Given the description of an element on the screen output the (x, y) to click on. 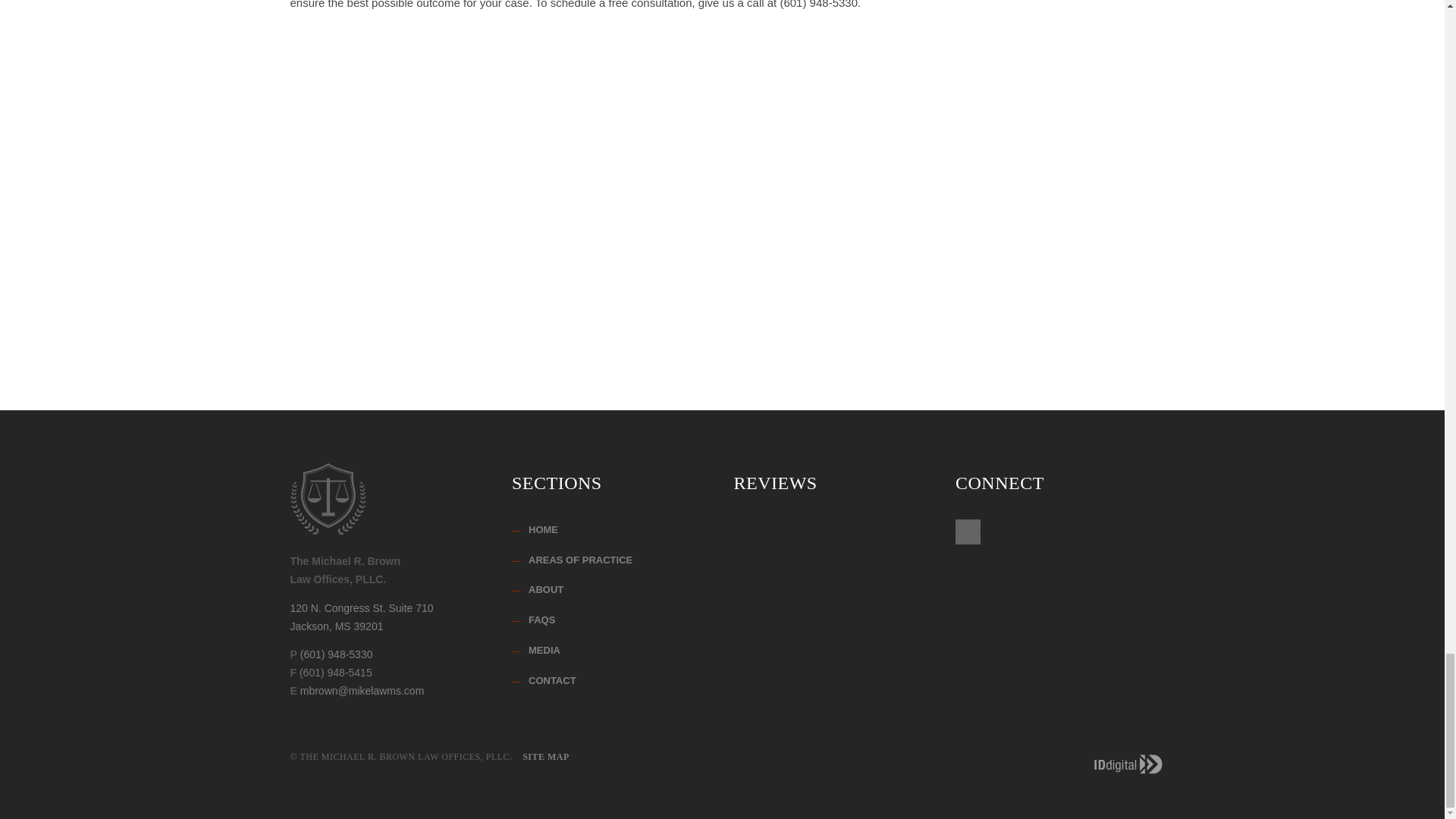
ABOUT (360, 616)
AREAS OF PRACTICE (611, 590)
FAQS (611, 560)
CONTACT (611, 620)
MEDIA (611, 681)
HOME (611, 651)
SITE MAP (611, 530)
